Given the description of an element on the screen output the (x, y) to click on. 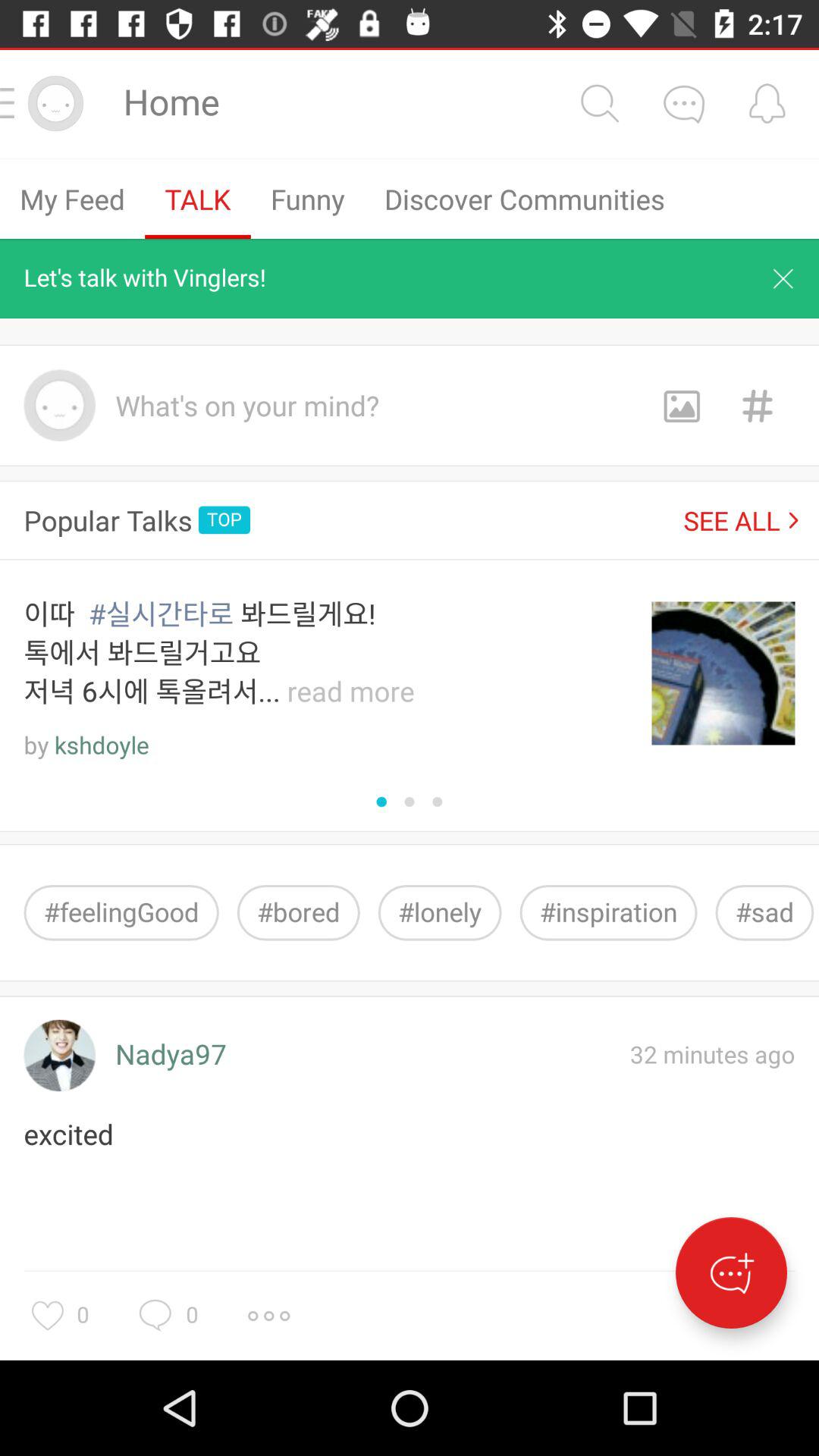
tap item to the right of the #lonely item (608, 912)
